Given the description of an element on the screen output the (x, y) to click on. 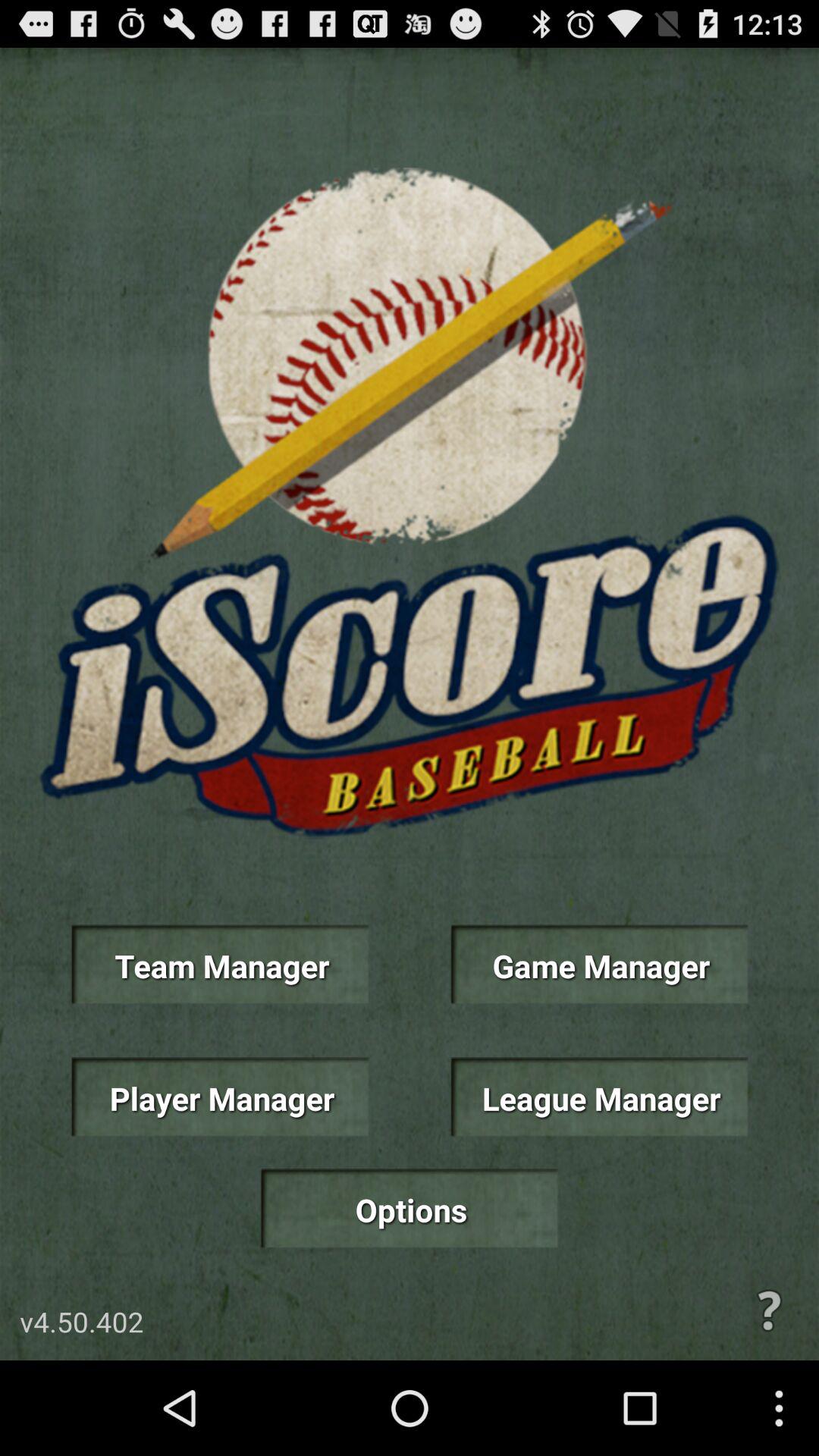
choose button next to the team manager button (598, 964)
